Given the description of an element on the screen output the (x, y) to click on. 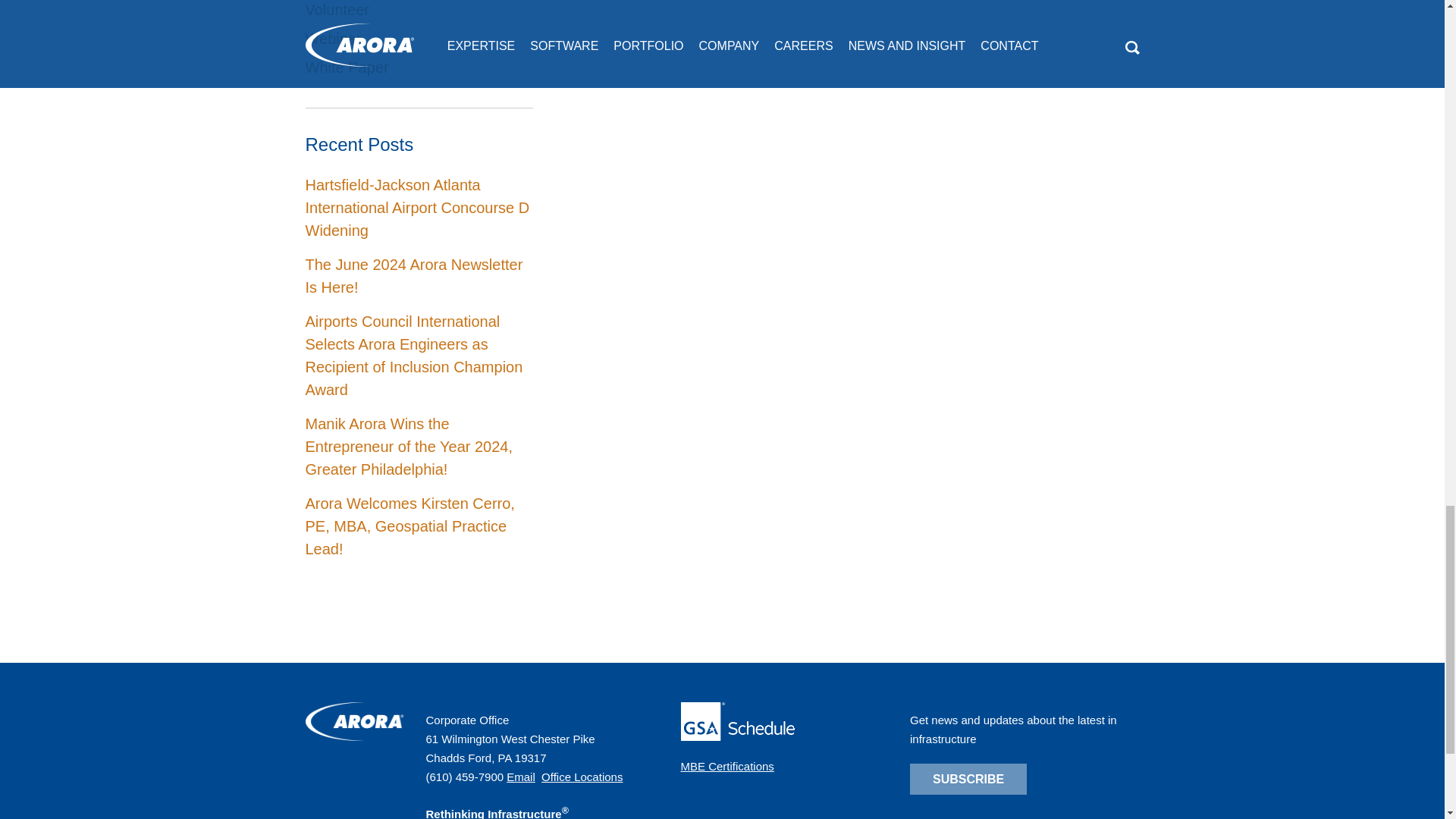
GSA Schedule Logo (737, 721)
Arora Engineers (353, 736)
